Given the description of an element on the screen output the (x, y) to click on. 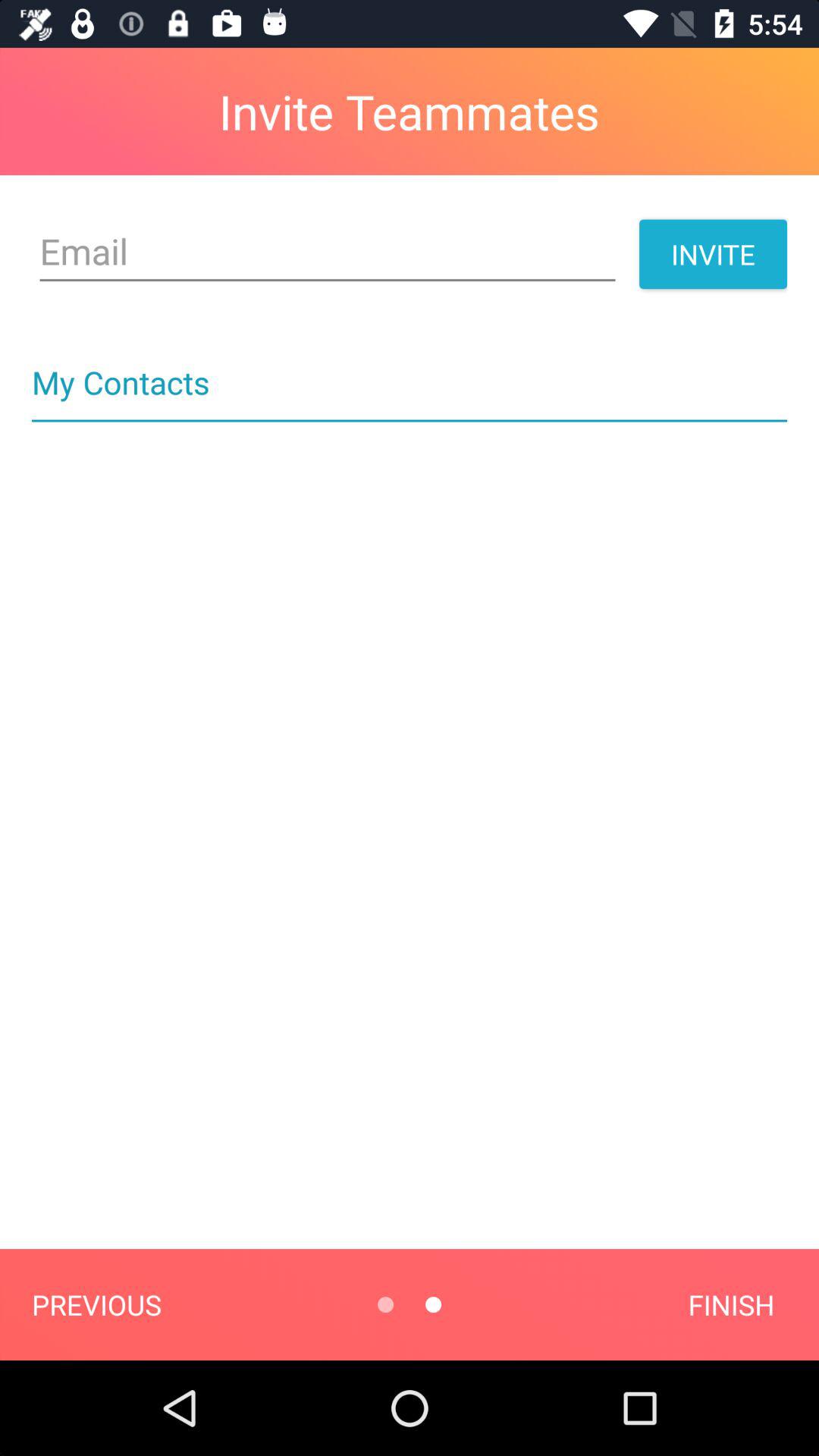
click icon next to invite item (327, 251)
